Given the description of an element on the screen output the (x, y) to click on. 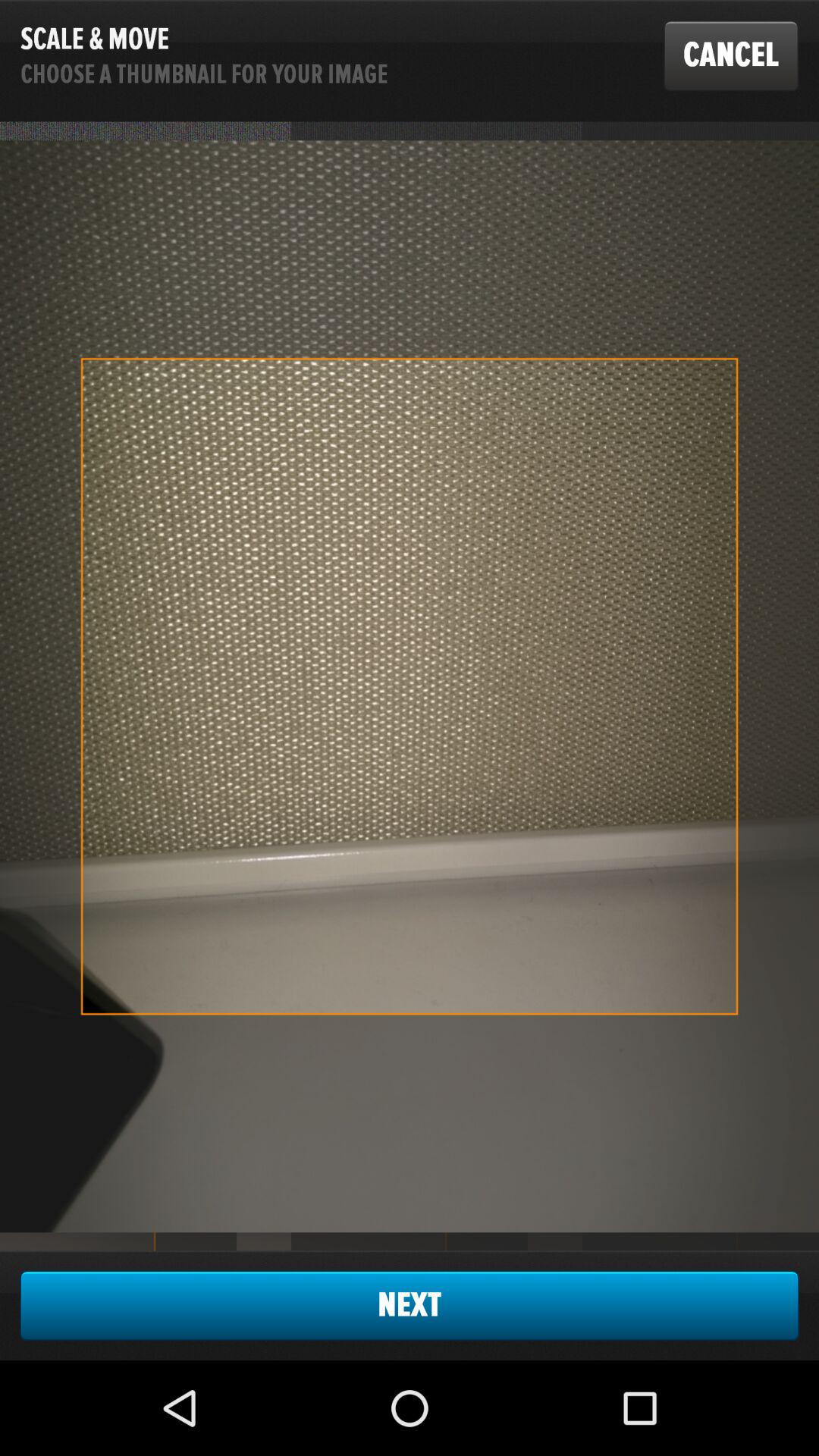
turn off the item at the bottom (409, 1305)
